Given the description of an element on the screen output the (x, y) to click on. 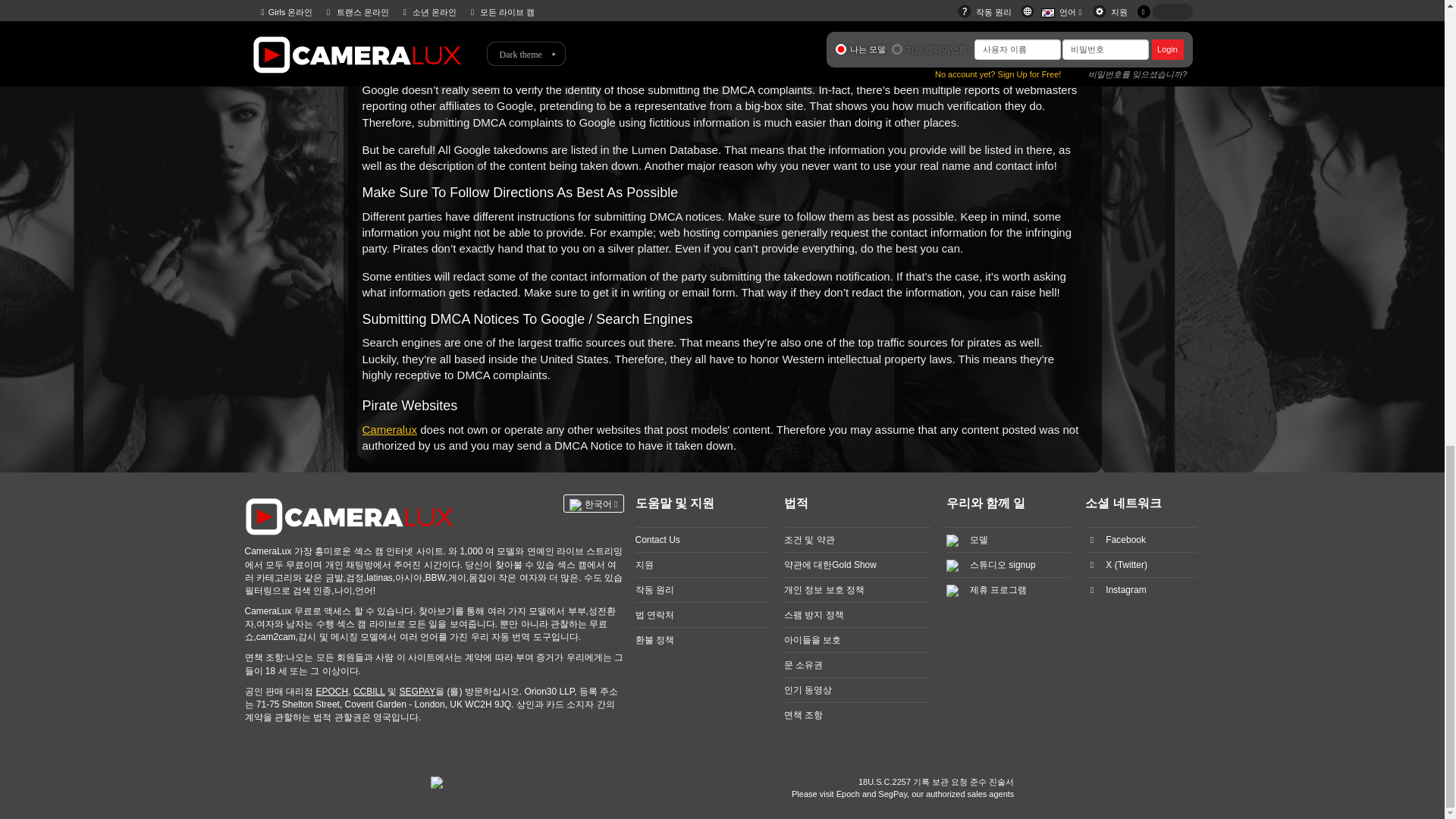
Cameralux (389, 429)
